Given the description of an element on the screen output the (x, y) to click on. 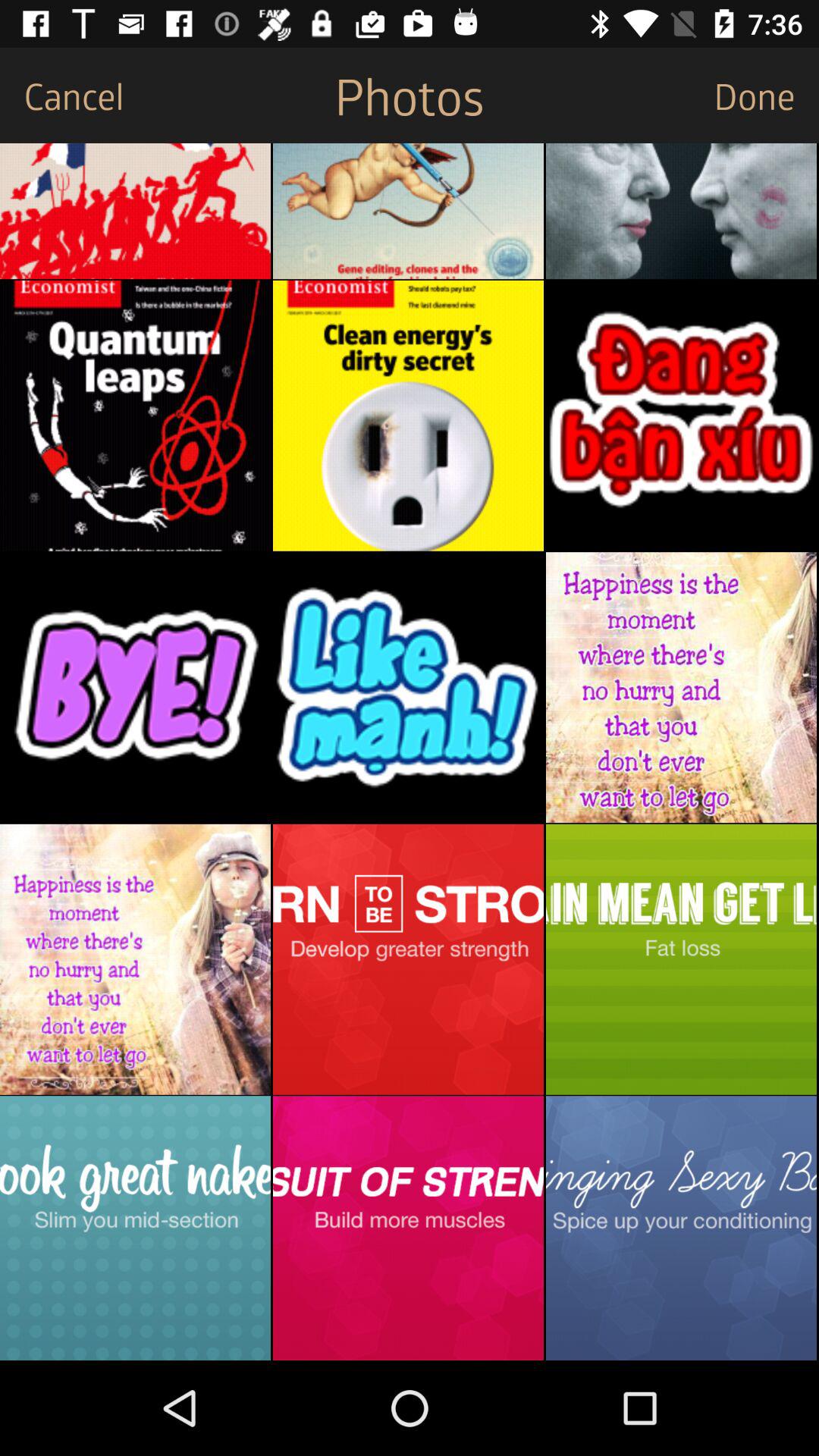
share the image (681, 1227)
